Given the description of an element on the screen output the (x, y) to click on. 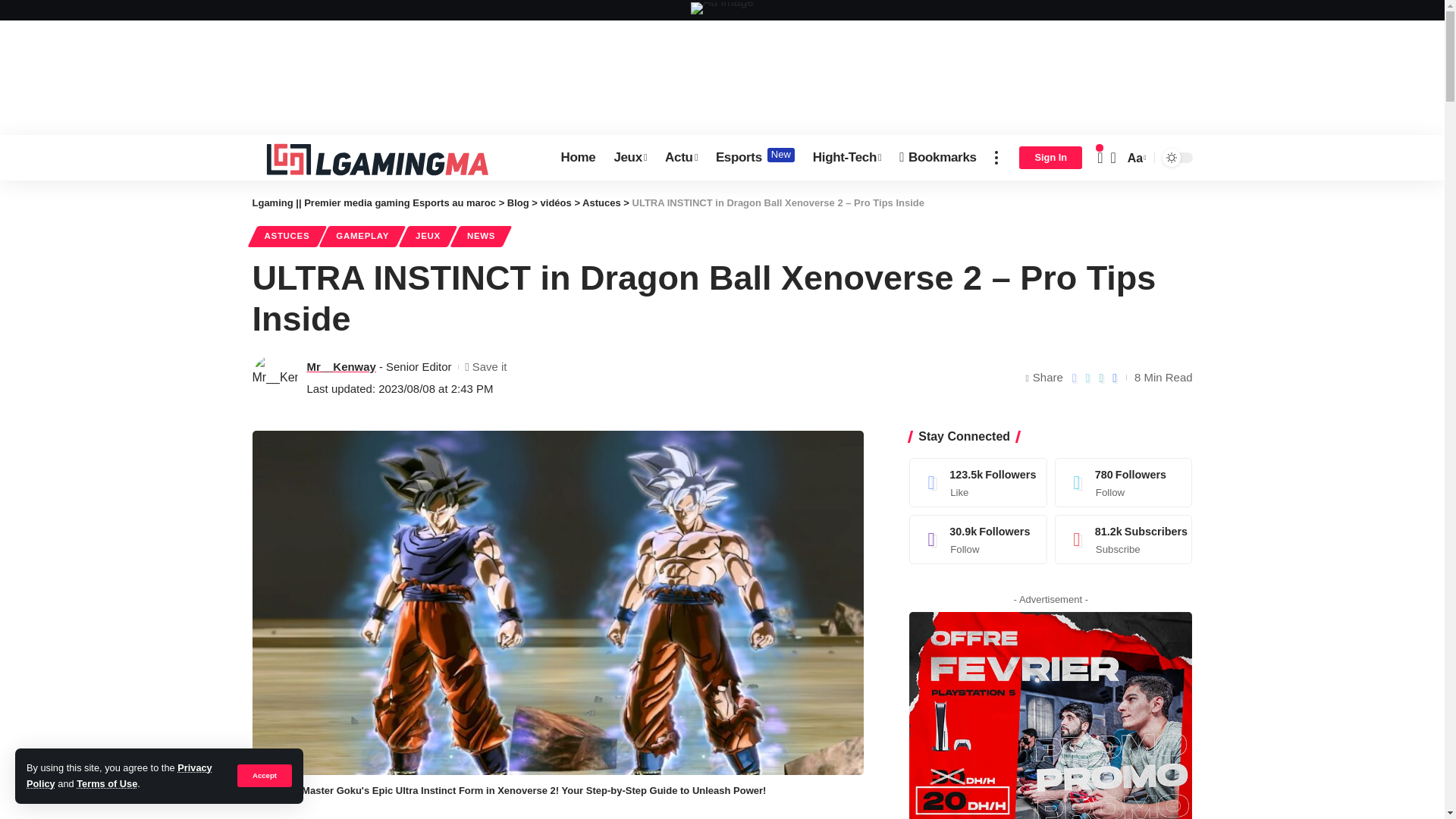
Privacy Policy (119, 775)
Accept (264, 775)
Bookmarks (937, 157)
Jeux (754, 157)
Home (630, 157)
Hight-Tech (578, 157)
Terms of Use (846, 157)
Actu (106, 783)
